Given the description of an element on the screen output the (x, y) to click on. 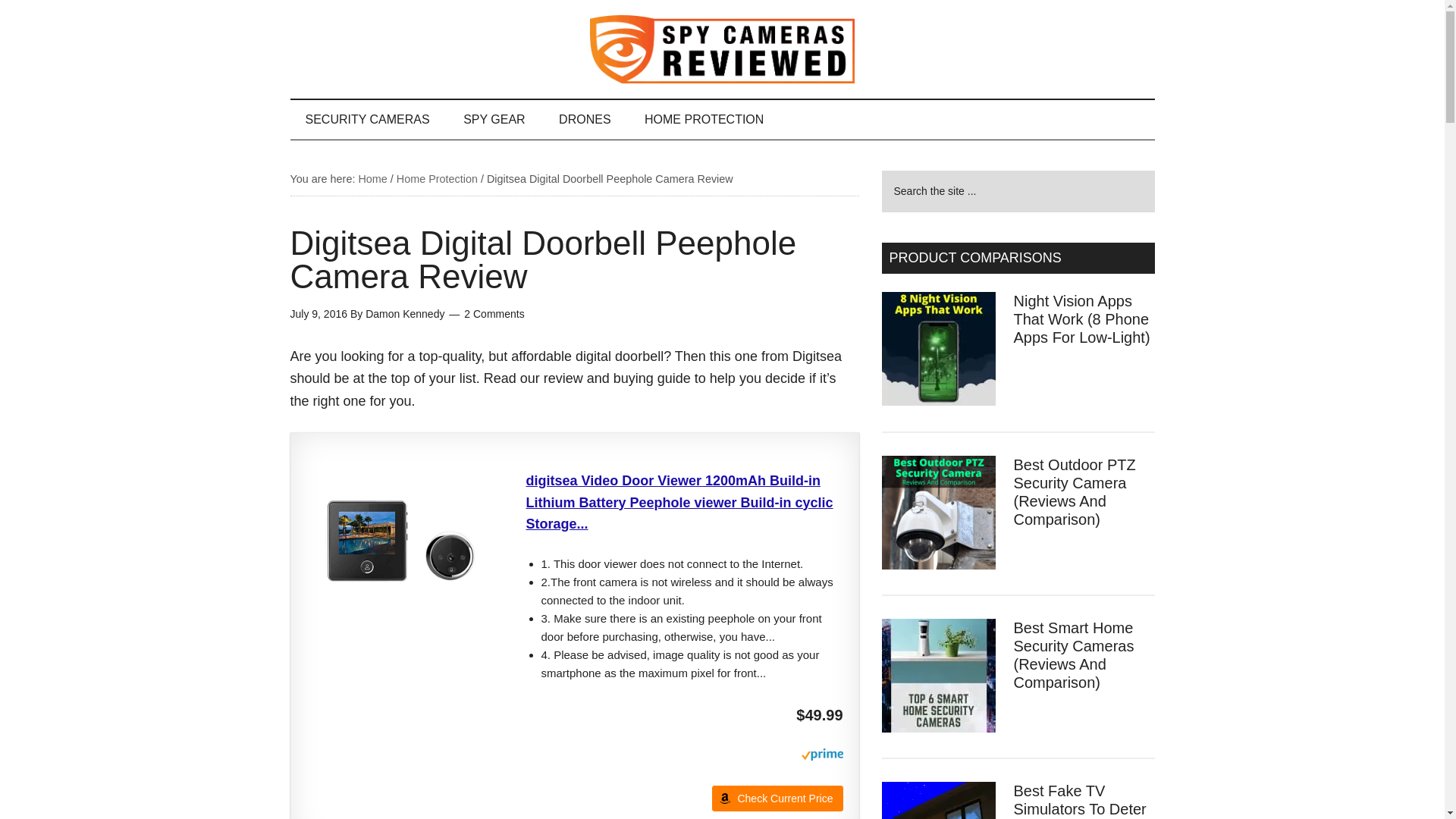
Amazon Prime (821, 756)
SPY GEAR (494, 119)
Home Protection (436, 178)
HOME PROTECTION (703, 119)
2 Comments (494, 313)
DRONES (584, 119)
